Given the description of an element on the screen output the (x, y) to click on. 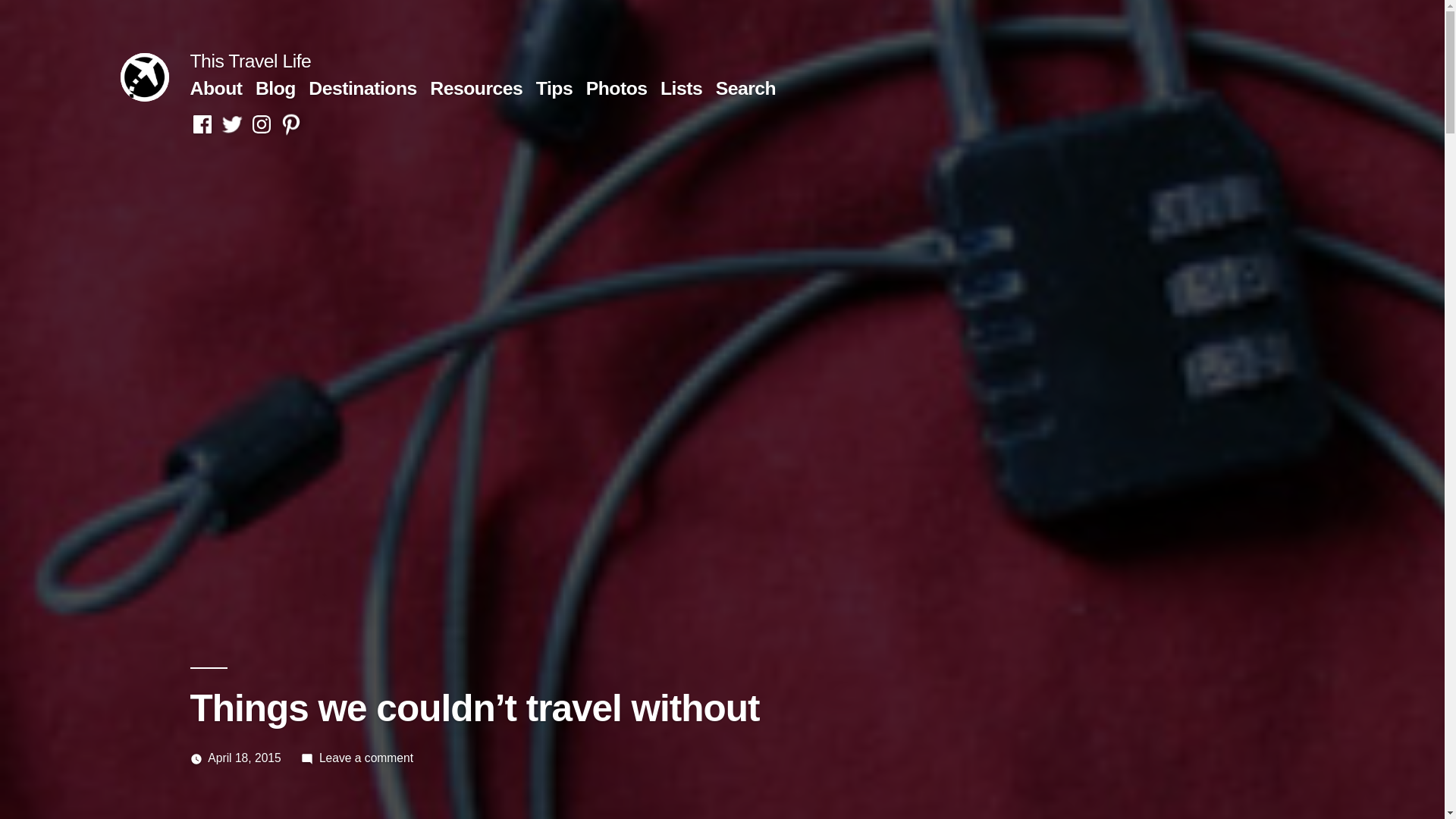
Lists (681, 87)
April 18, 2015 (244, 757)
This Travel Life (250, 60)
Destinations (362, 87)
Resources (475, 87)
Instagram (260, 124)
Facebook (201, 124)
Search (746, 87)
Photos (616, 87)
Pintrest (290, 124)
About (215, 87)
Tips (553, 87)
Twitter (231, 124)
Blog (275, 87)
